Given the description of an element on the screen output the (x, y) to click on. 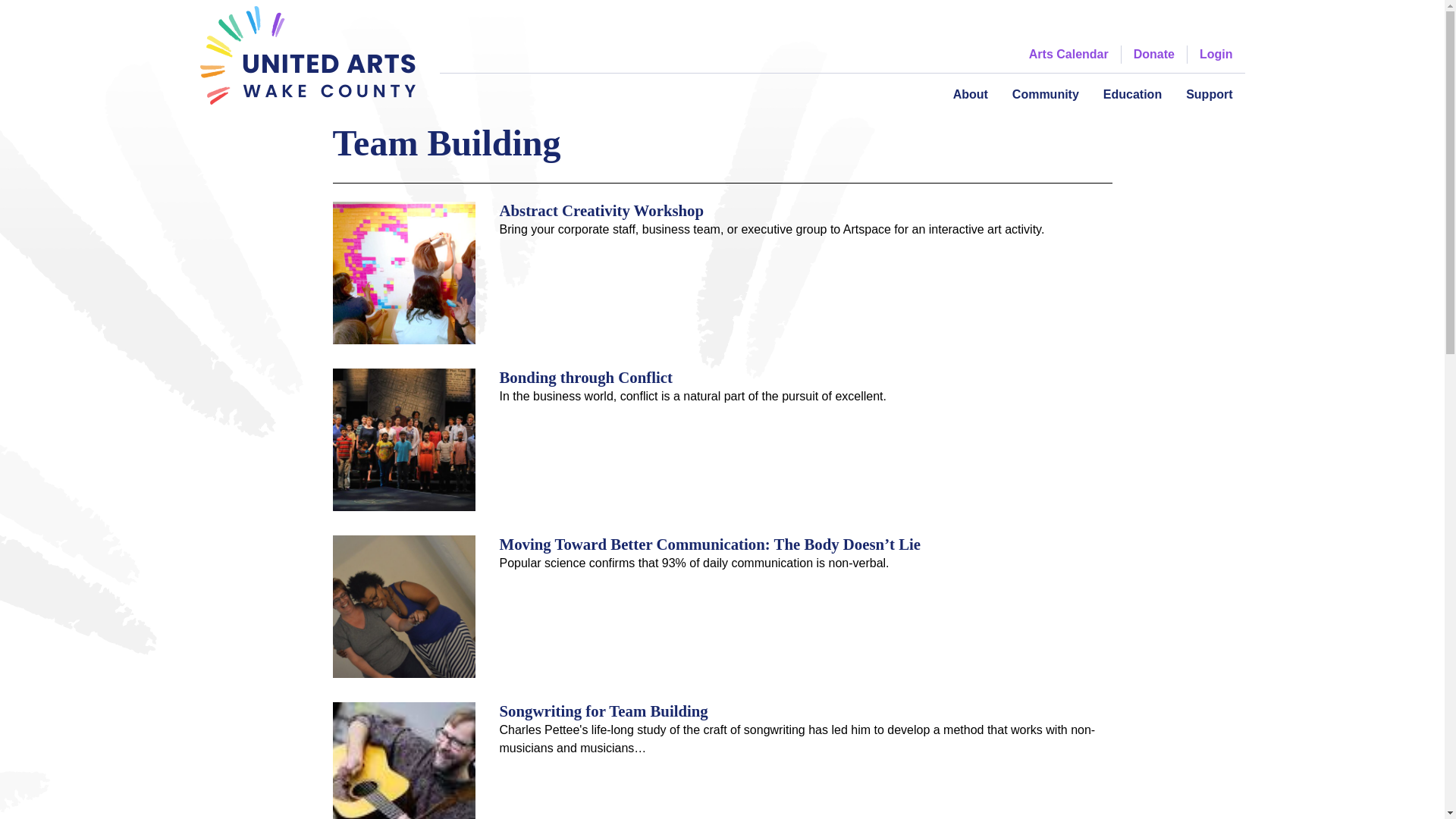
Arts Calendar (1068, 54)
Login (1216, 54)
Donate (1154, 54)
About (970, 94)
Support (1208, 94)
Abstract Creativity Workshop (601, 210)
Community (1045, 94)
Education (1131, 94)
